Given the description of an element on the screen output the (x, y) to click on. 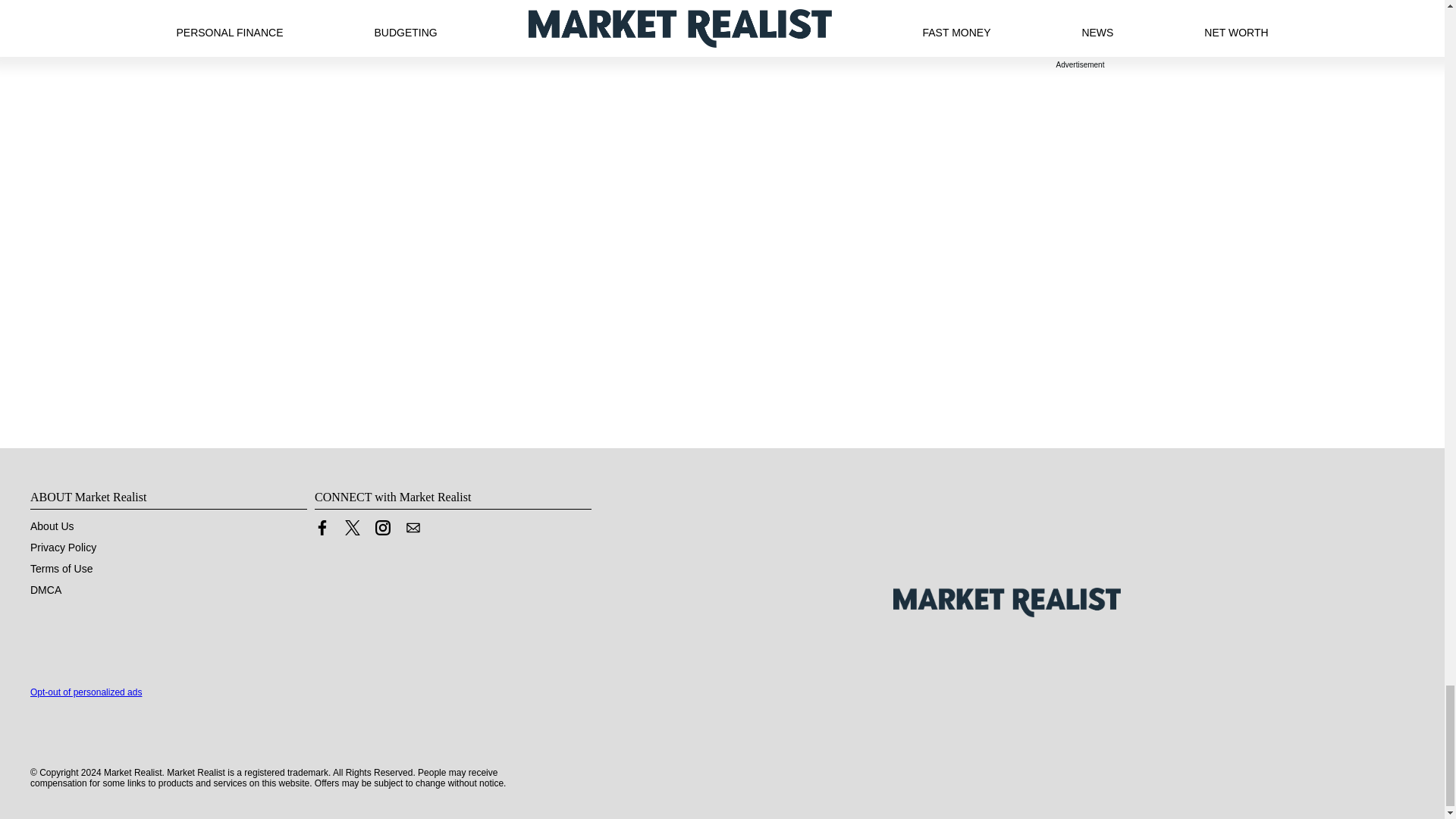
Link to Facebook (322, 527)
DMCA (45, 589)
Contact us by Email (413, 531)
DMCA (45, 589)
Terms of Use (61, 568)
Contact us by Email (413, 527)
Link to X (352, 527)
Link to X (352, 531)
Link to Instagram (382, 531)
Link to Facebook (322, 531)
